Given the description of an element on the screen output the (x, y) to click on. 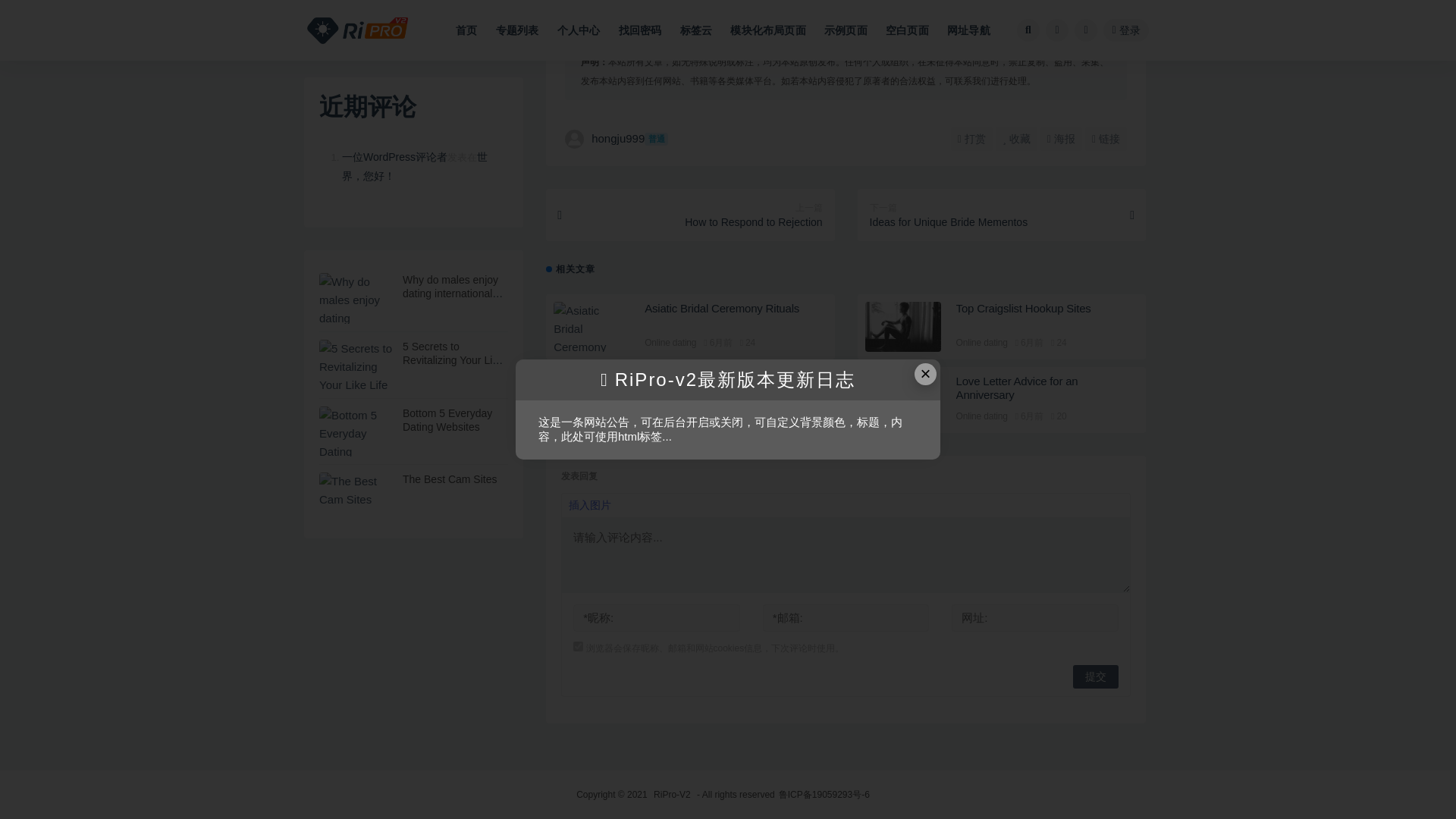
Ideas for Unique Bride Mementos (1001, 215)
How to Respond to Rejection (690, 215)
